Given the description of an element on the screen output the (x, y) to click on. 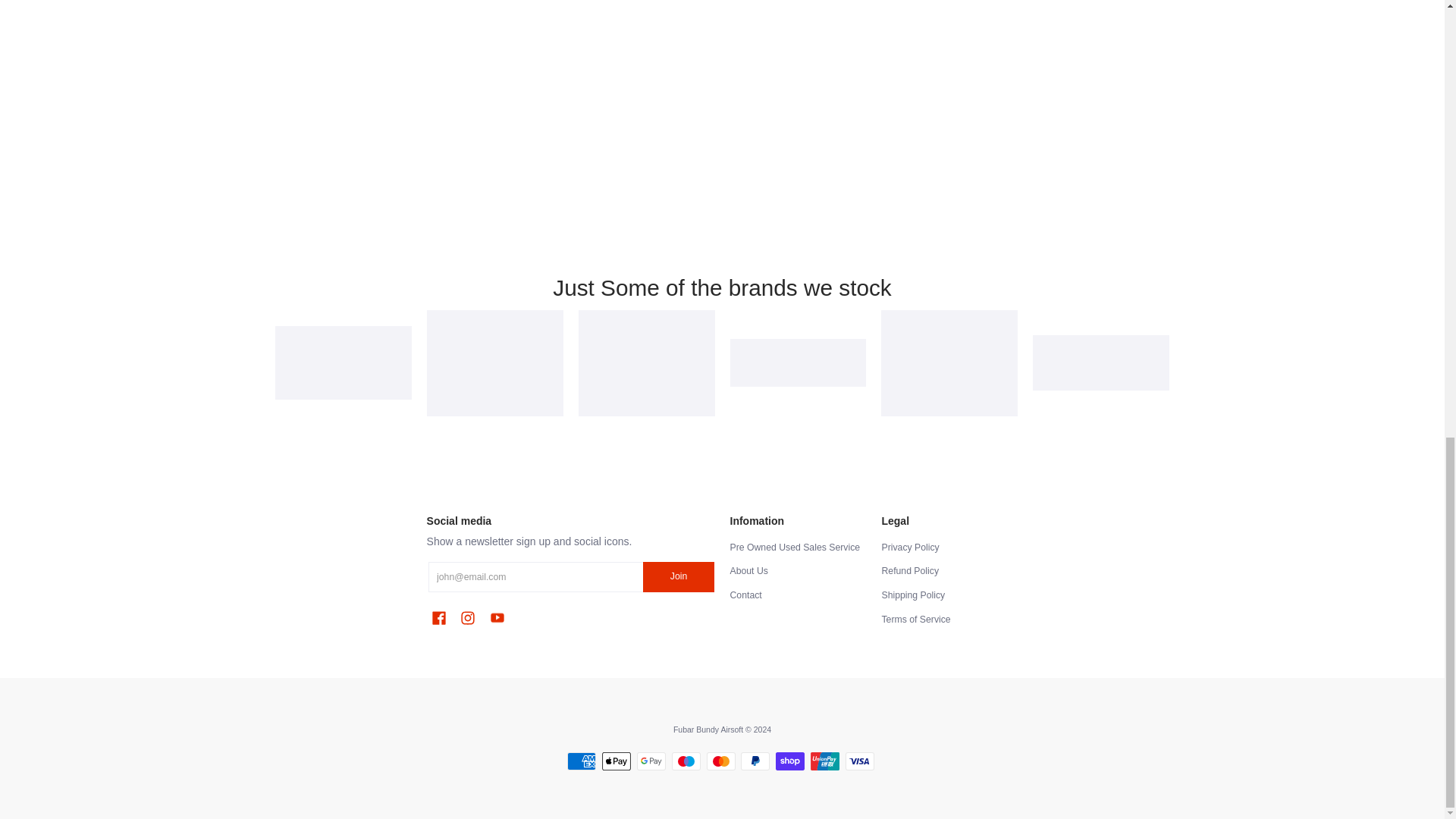
Union Pay (825, 761)
American Express (581, 761)
Shop Pay (790, 761)
Visa (860, 761)
Google Pay (651, 761)
PayPal (755, 761)
Mastercard (720, 761)
Maestro (685, 761)
Apple Pay (616, 761)
